Given the description of an element on the screen output the (x, y) to click on. 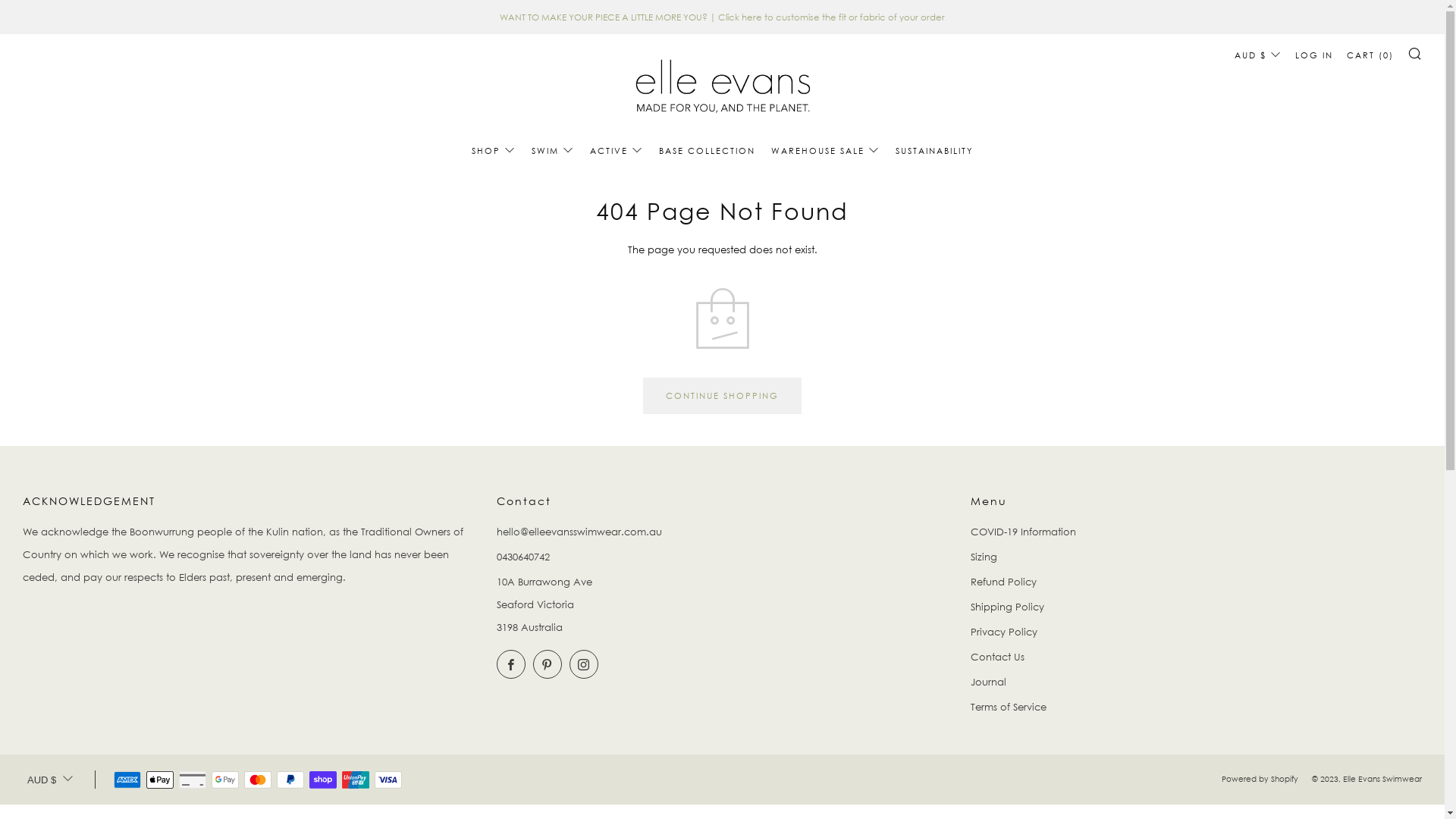
CONTINUE SHOPPING Element type: text (722, 395)
Instagram Element type: text (583, 663)
Shipping Policy Element type: text (1007, 606)
SWIM Element type: text (551, 150)
ACTIVE Element type: text (616, 150)
AUD $ Element type: text (49, 780)
Powered by Shopify Element type: text (1259, 779)
WAREHOUSE SALE Element type: text (824, 150)
AUD $ Element type: text (1257, 55)
Privacy Policy Element type: text (1003, 631)
Contact Us Element type: text (997, 656)
LOG IN Element type: text (1314, 55)
CART (0) Element type: text (1369, 55)
Sizing Element type: text (983, 556)
hello@elleevansswimwear.com.au Element type: text (579, 531)
Facebook Element type: text (510, 663)
Terms of Service Element type: text (1008, 706)
COVID-19 Information Element type: text (1023, 531)
BASE COLLECTION Element type: text (706, 150)
Pinterest Element type: text (547, 663)
SUSTAINABILITY Element type: text (933, 150)
Journal Element type: text (988, 681)
0430640742 Element type: text (522, 556)
SHOP Element type: text (493, 150)
Refund Policy Element type: text (1003, 581)
SEARCH Element type: text (1414, 52)
